Given the description of an element on the screen output the (x, y) to click on. 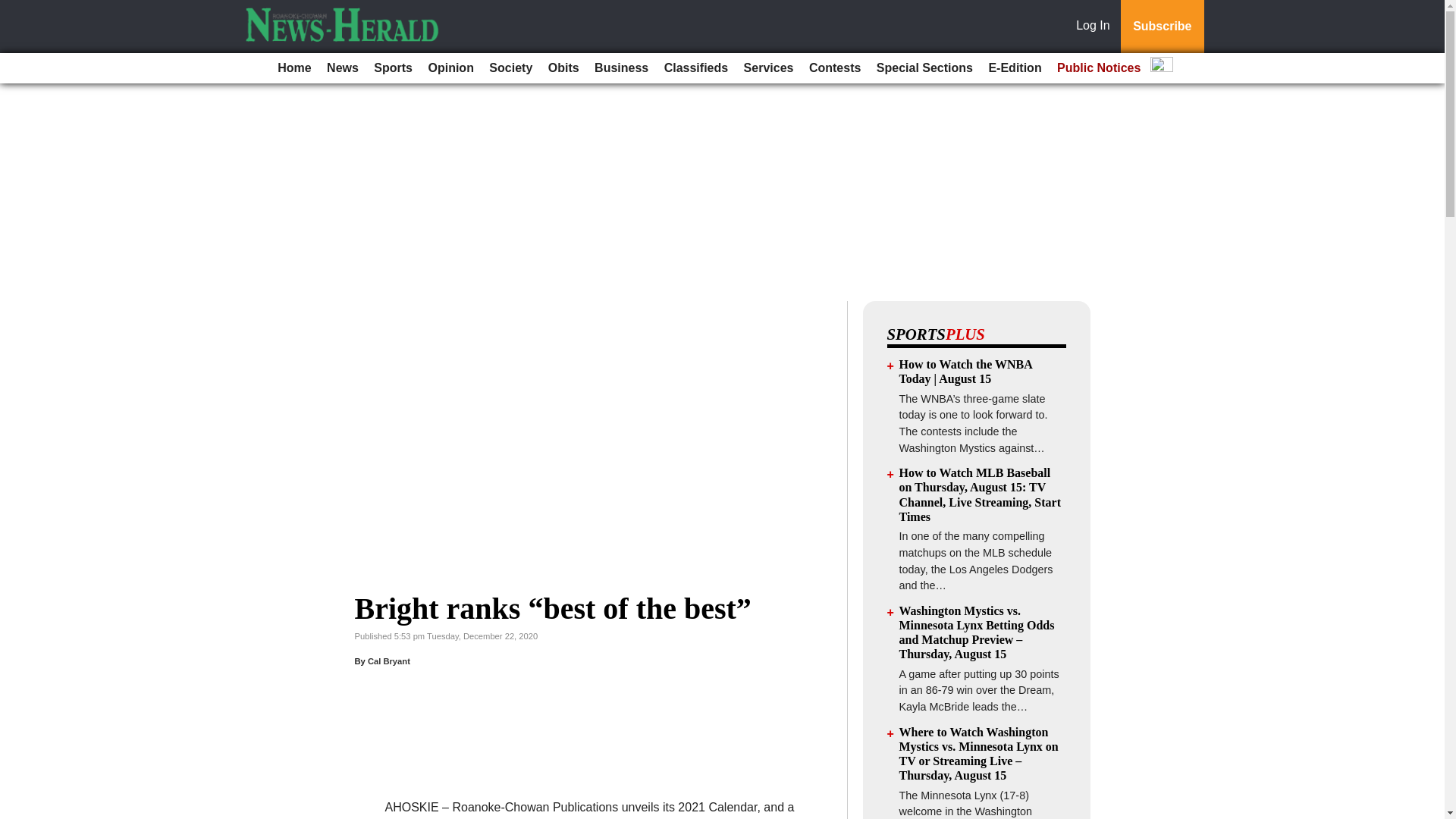
Sports (393, 68)
Classifieds (695, 68)
Log In (1095, 26)
Services (768, 68)
Society (510, 68)
Go (13, 9)
Home (293, 68)
Special Sections (924, 68)
Obits (563, 68)
Cal Bryant (389, 660)
